Given the description of an element on the screen output the (x, y) to click on. 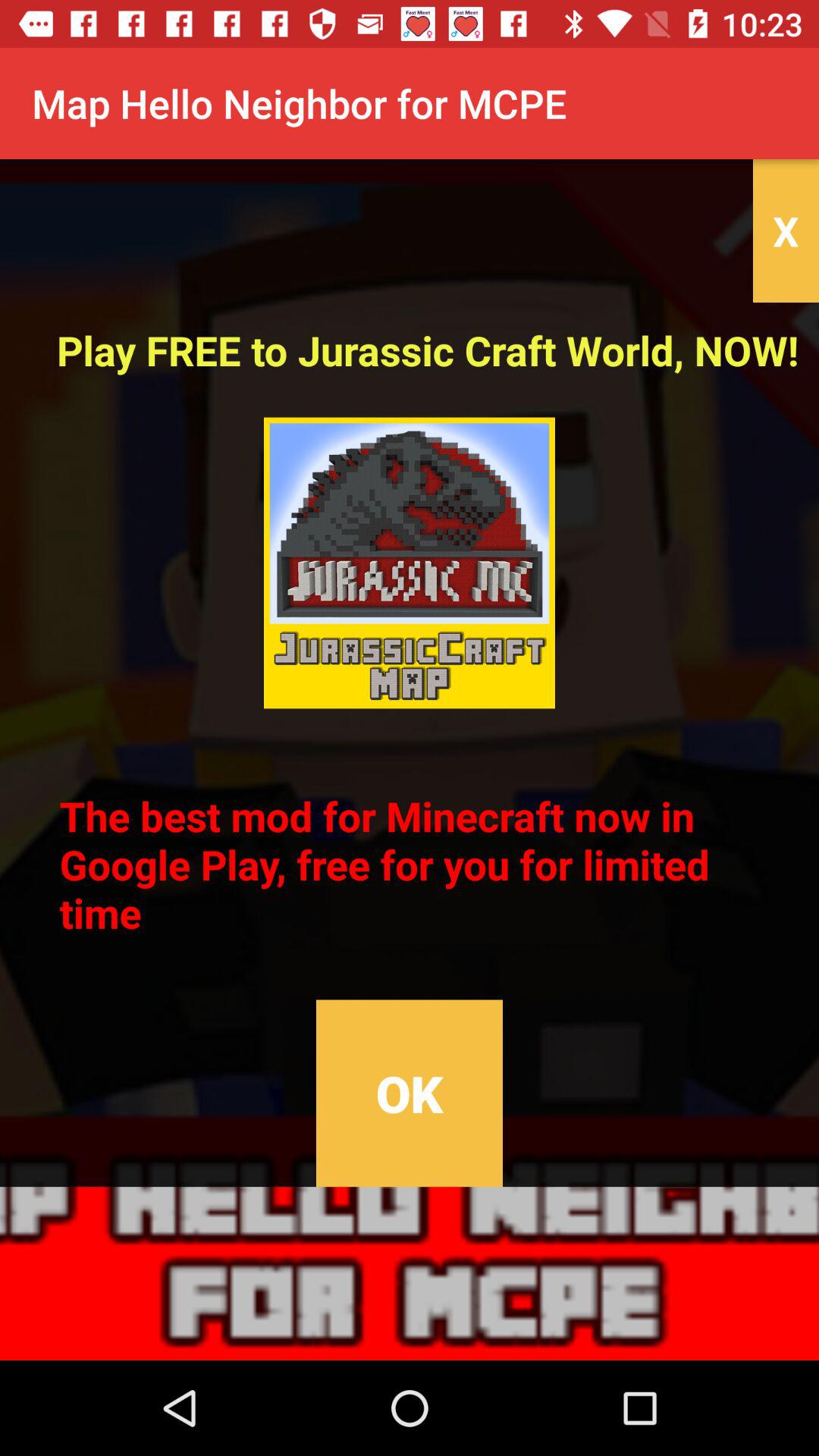
turn off ok item (409, 1092)
